Given the description of an element on the screen output the (x, y) to click on. 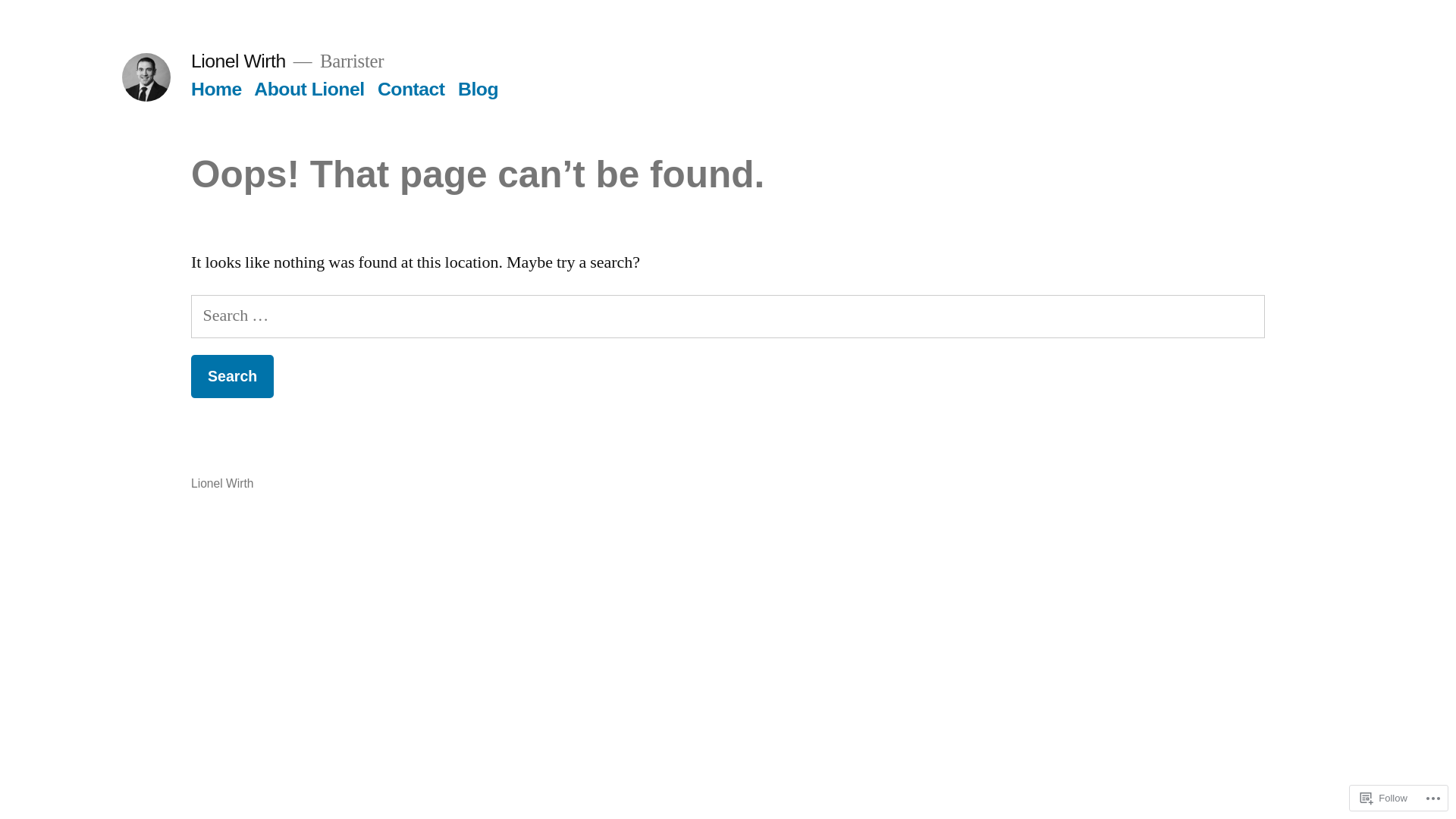
About Lionel Element type: text (309, 88)
Home Element type: text (216, 88)
Lionel Wirth Element type: text (222, 482)
Blog Element type: text (478, 88)
Contact Element type: text (411, 88)
Follow Element type: text (1383, 797)
Lionel Wirth Element type: text (238, 60)
Search Element type: text (232, 376)
